Given the description of an element on the screen output the (x, y) to click on. 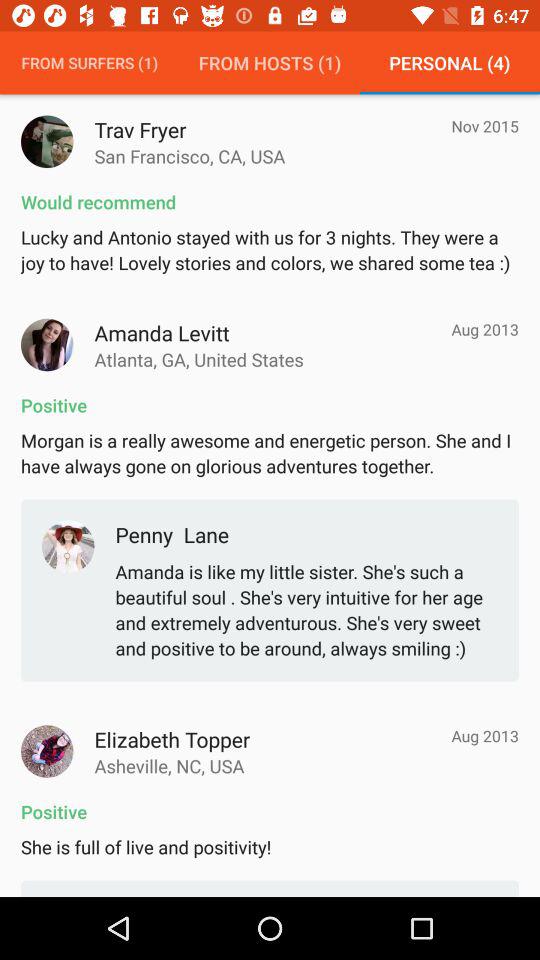
select the persons profile (47, 344)
